Given the description of an element on the screen output the (x, y) to click on. 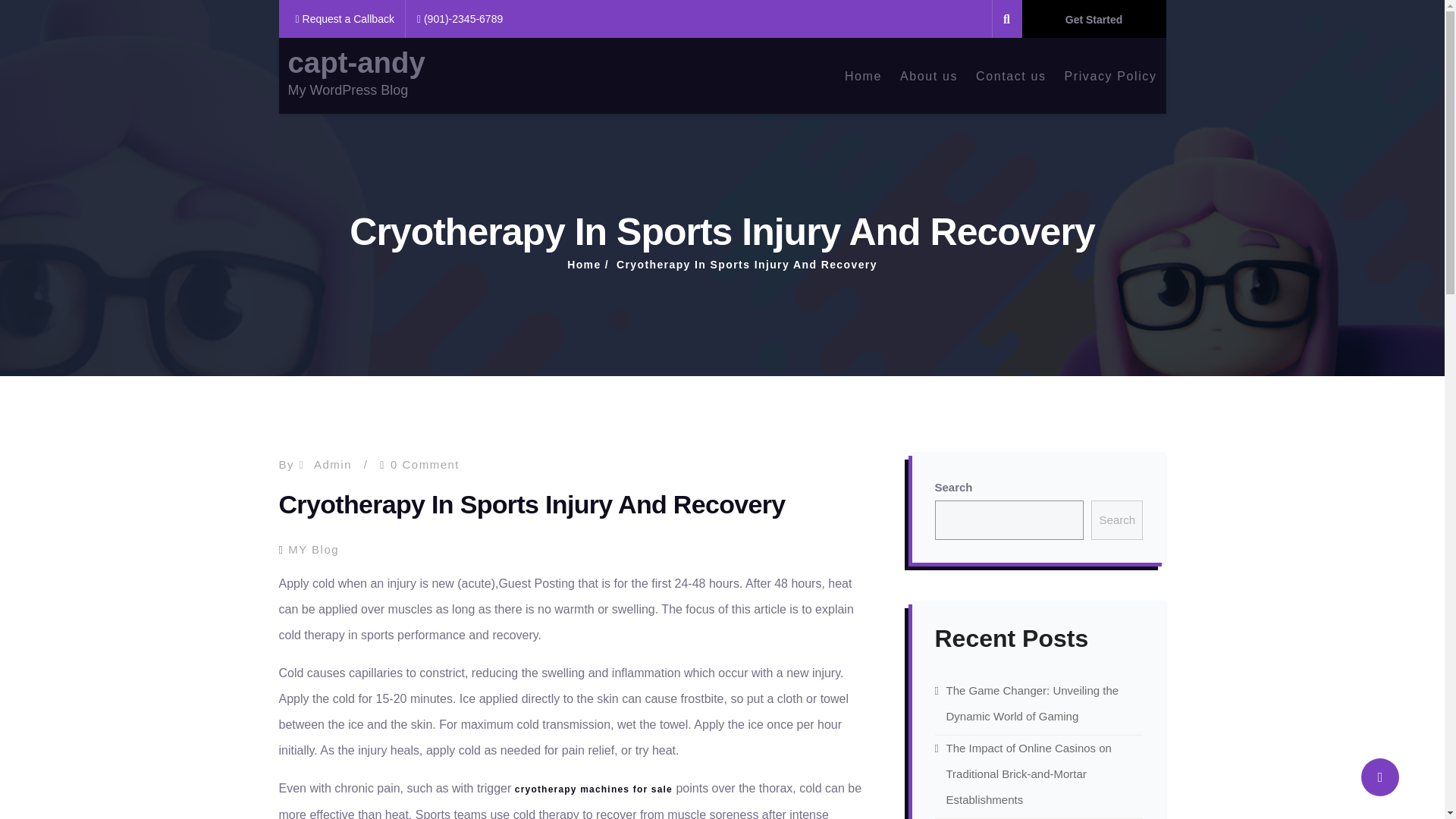
Get Started (1094, 18)
MY Blog (313, 549)
cryotherapy machines for sale (593, 789)
Home (863, 74)
The Game Changer: Unveiling the Dynamic World of Gaming (1032, 702)
About us (928, 74)
Home (584, 264)
Contact us (1010, 74)
Privacy Policy (1110, 74)
capt-andy (356, 62)
Cryotherapy In Sports Injury And Recovery (746, 264)
Admin (333, 464)
0 Comment (425, 464)
Search (1116, 519)
